Given the description of an element on the screen output the (x, y) to click on. 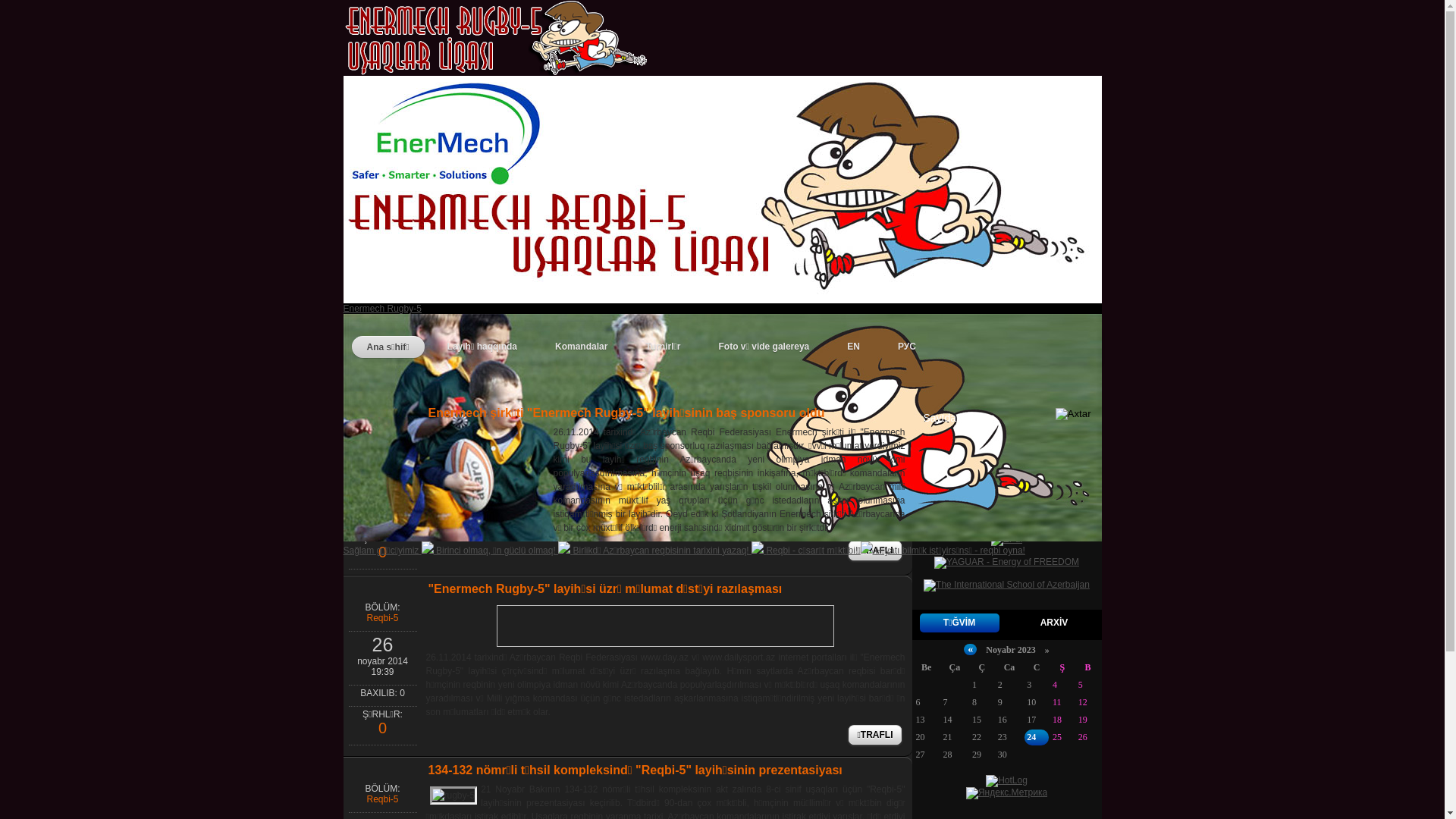
Axtar Element type: hover (1074, 416)
Enermech Rugby-5 Element type: text (721, 303)
Komandalar Element type: text (580, 346)
Reqbi-5 Element type: text (382, 617)
0 Element type: text (382, 729)
0 Element type: text (382, 554)
Reqbi-5 Element type: text (523, 390)
Reqbi-5 Element type: text (382, 441)
ARF Element type: text (372, 372)
Reqbi-5 Element type: text (382, 798)
EN Element type: text (853, 346)
